Given the description of an element on the screen output the (x, y) to click on. 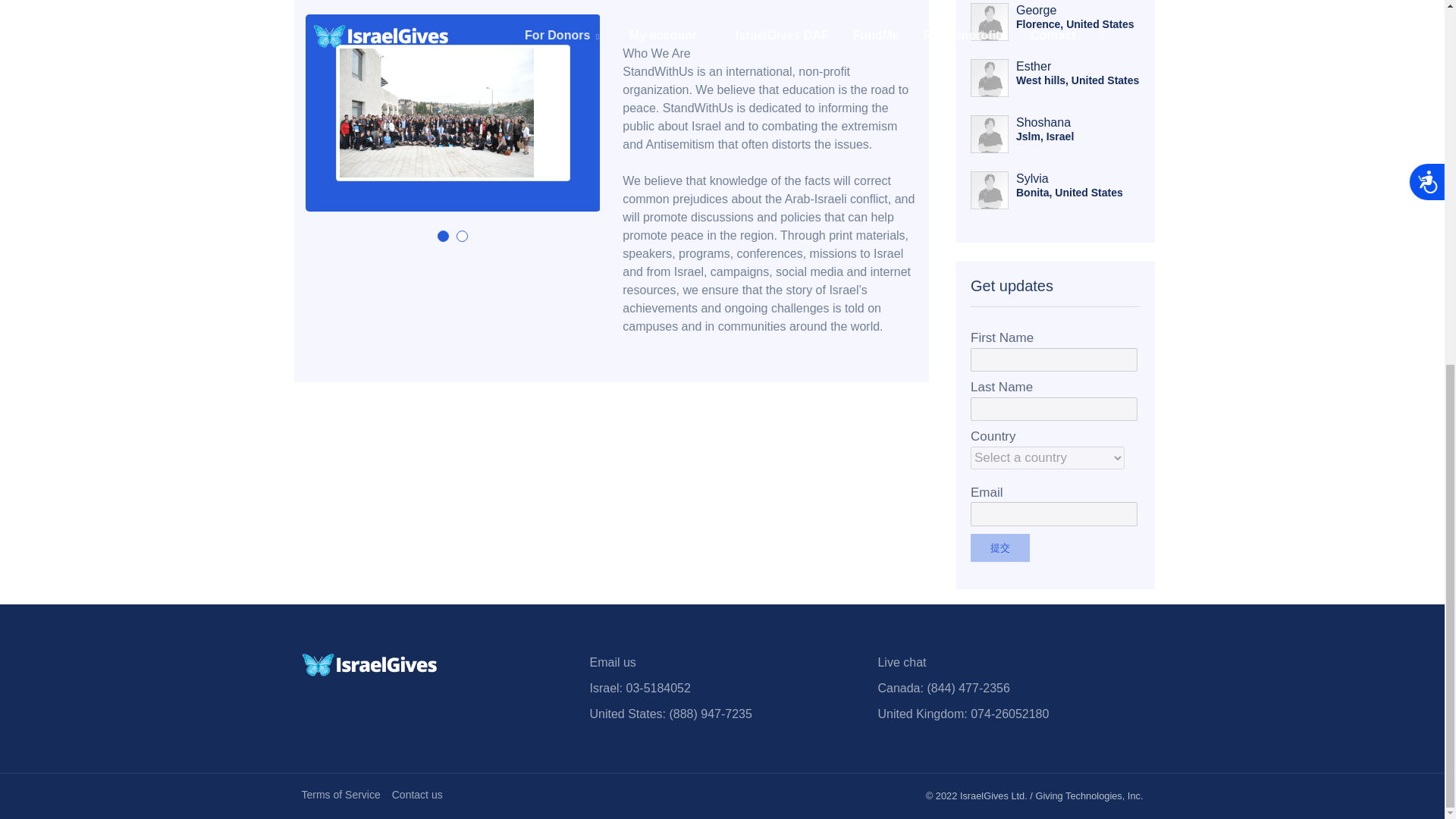
Email us (611, 662)
Israel: 03-5184052 (639, 687)
Live chat (901, 662)
